Given the description of an element on the screen output the (x, y) to click on. 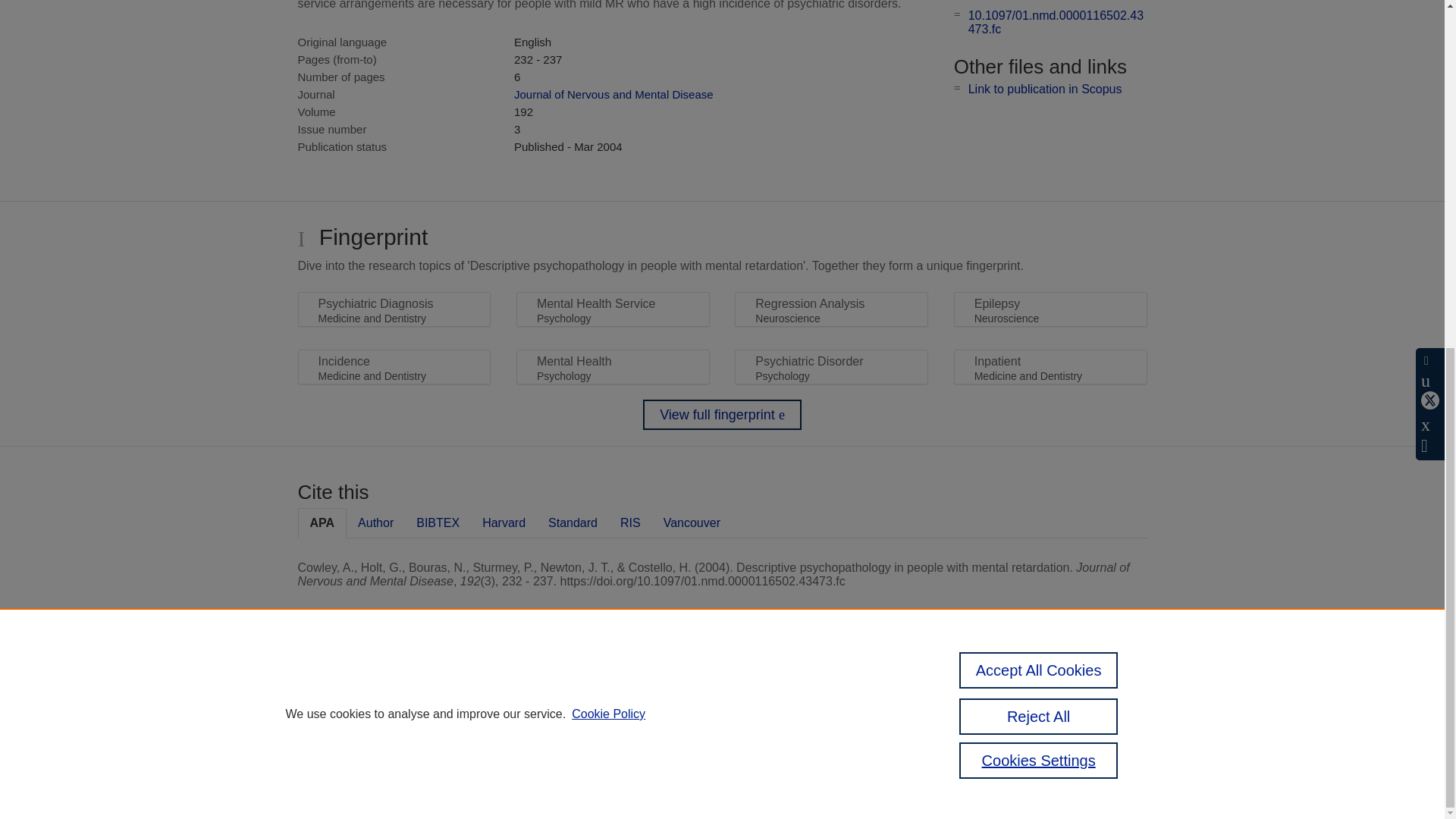
Journal of Nervous and Mental Disease (613, 93)
View full fingerprint (722, 414)
Link to publication in Scopus (1045, 88)
